Given the description of an element on the screen output the (x, y) to click on. 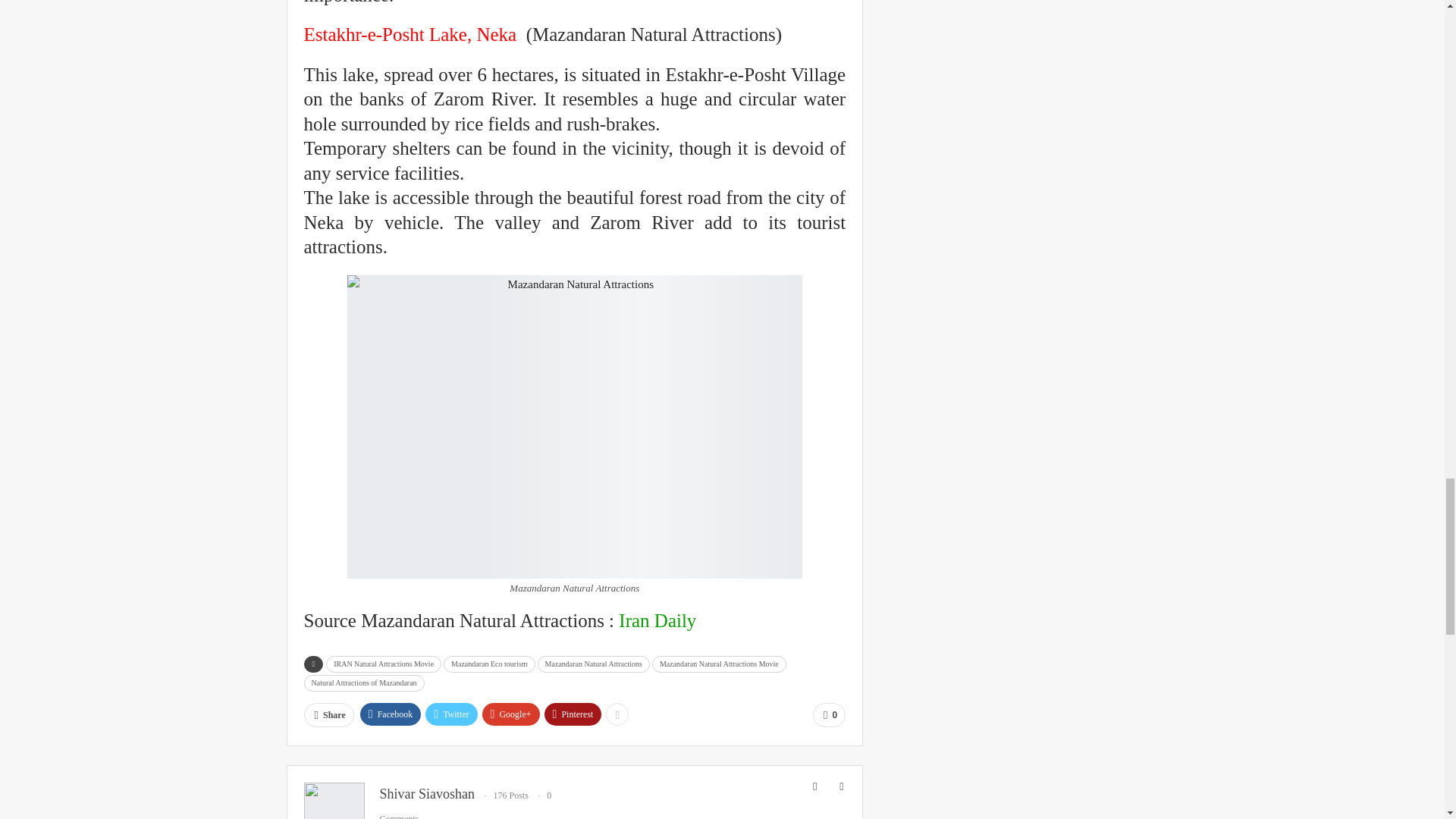
Iran Daily (656, 620)
IRAN Natural Attractions Movie (383, 664)
